Given the description of an element on the screen output the (x, y) to click on. 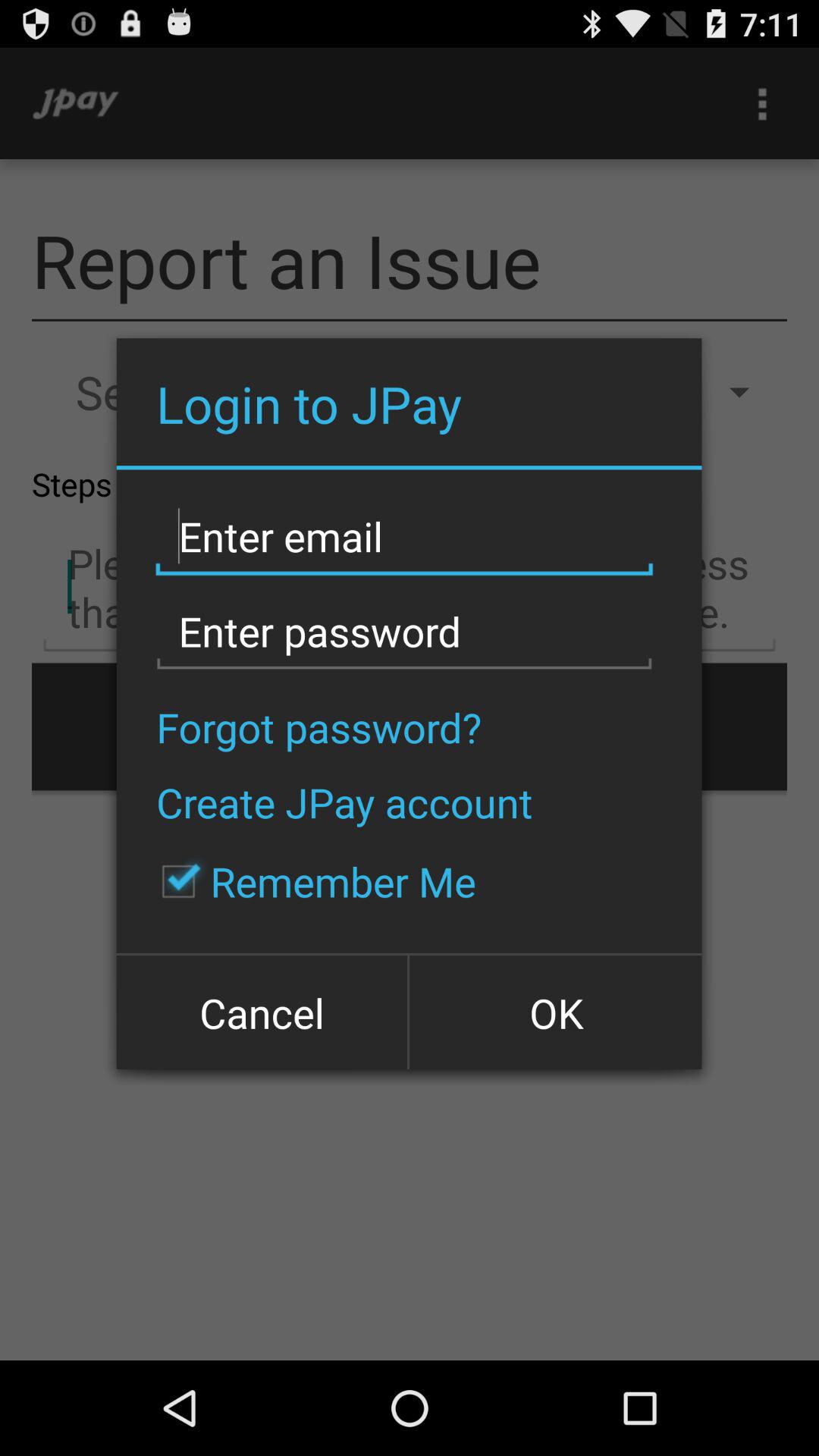
scroll to the forgot password? icon (318, 726)
